Given the description of an element on the screen output the (x, y) to click on. 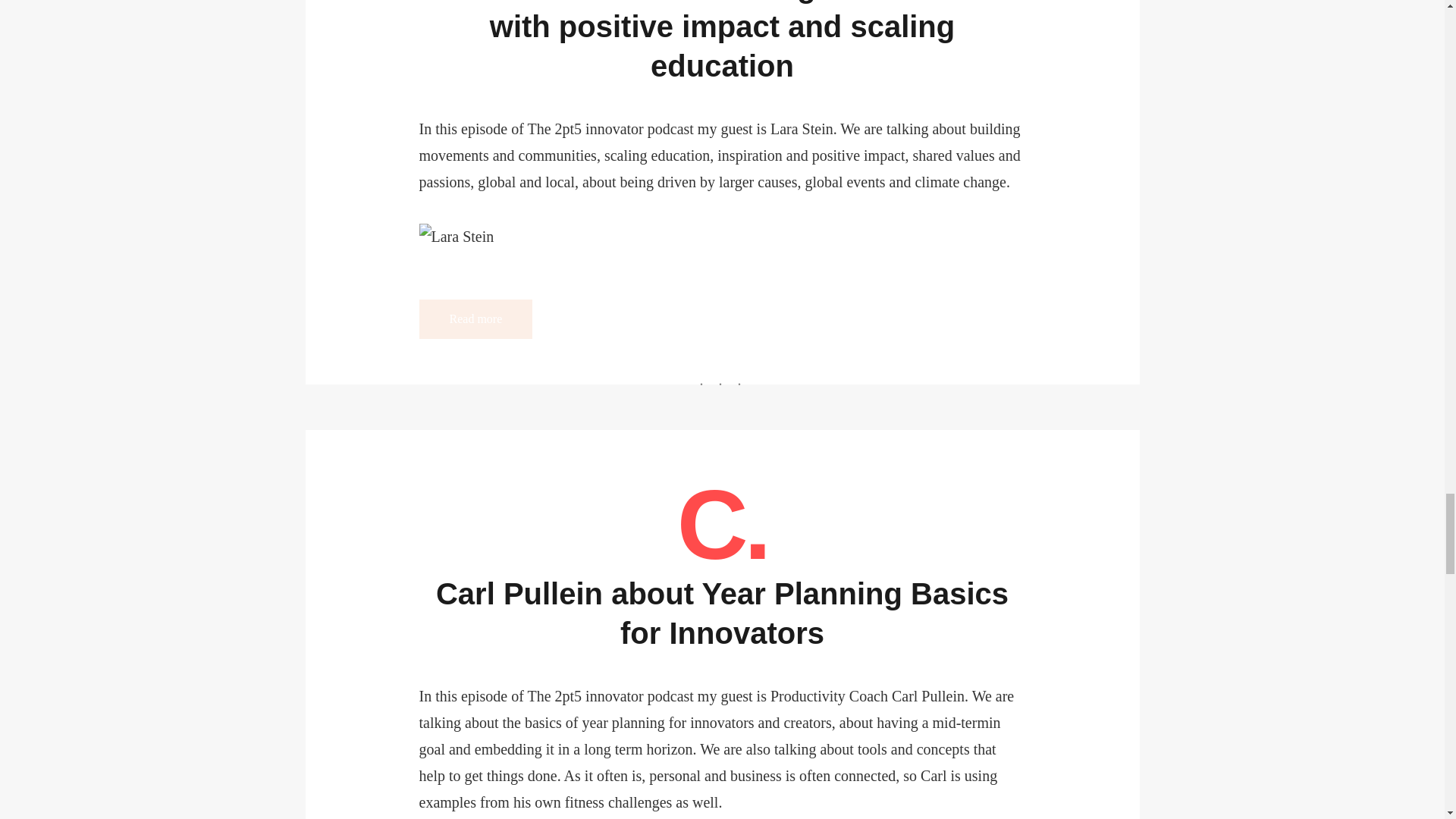
Carl Pullein about Year Planning Basics for Innovators (722, 613)
Read more (475, 319)
